Given the description of an element on the screen output the (x, y) to click on. 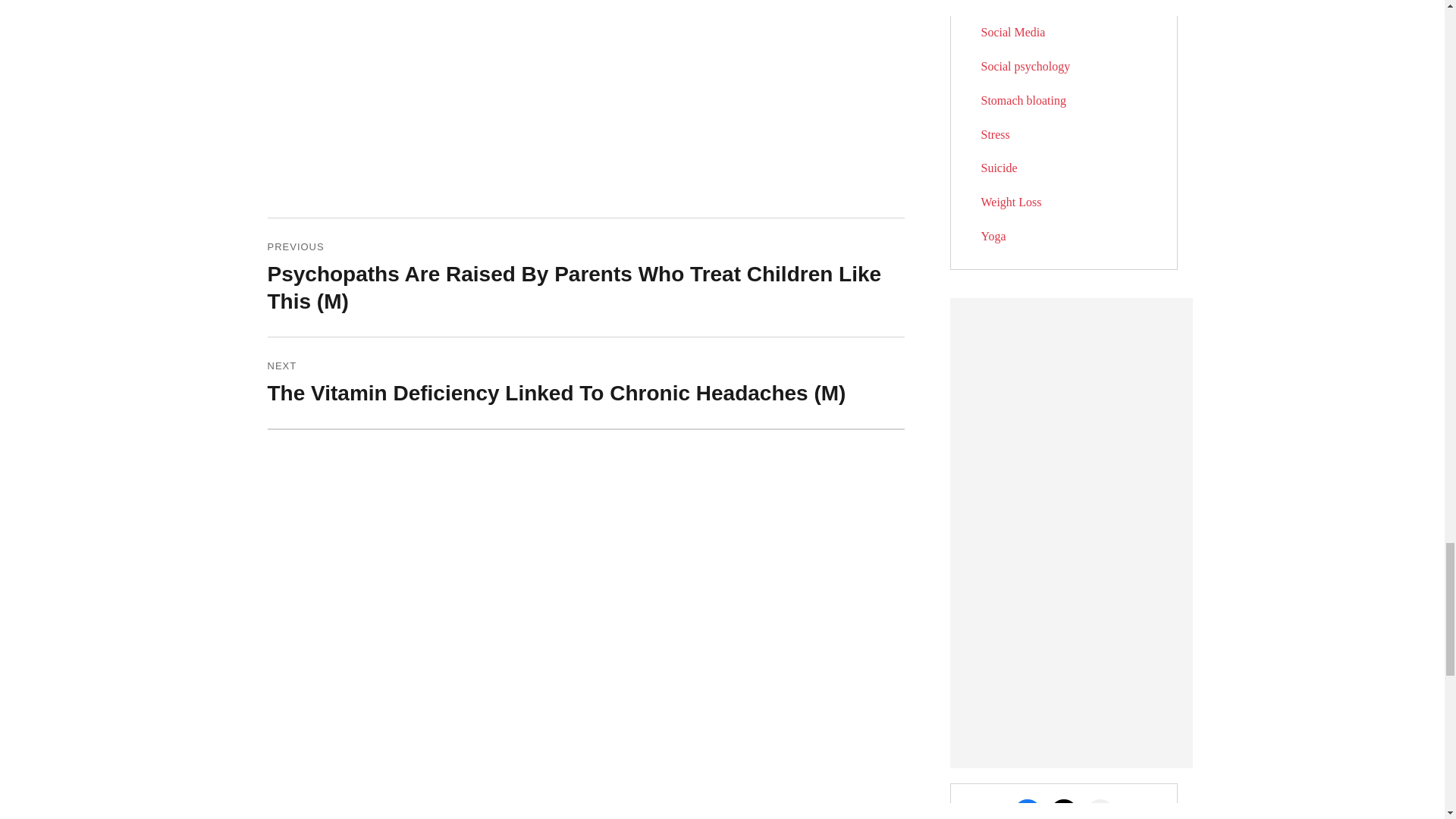
Advertisement (685, 63)
